Given the description of an element on the screen output the (x, y) to click on. 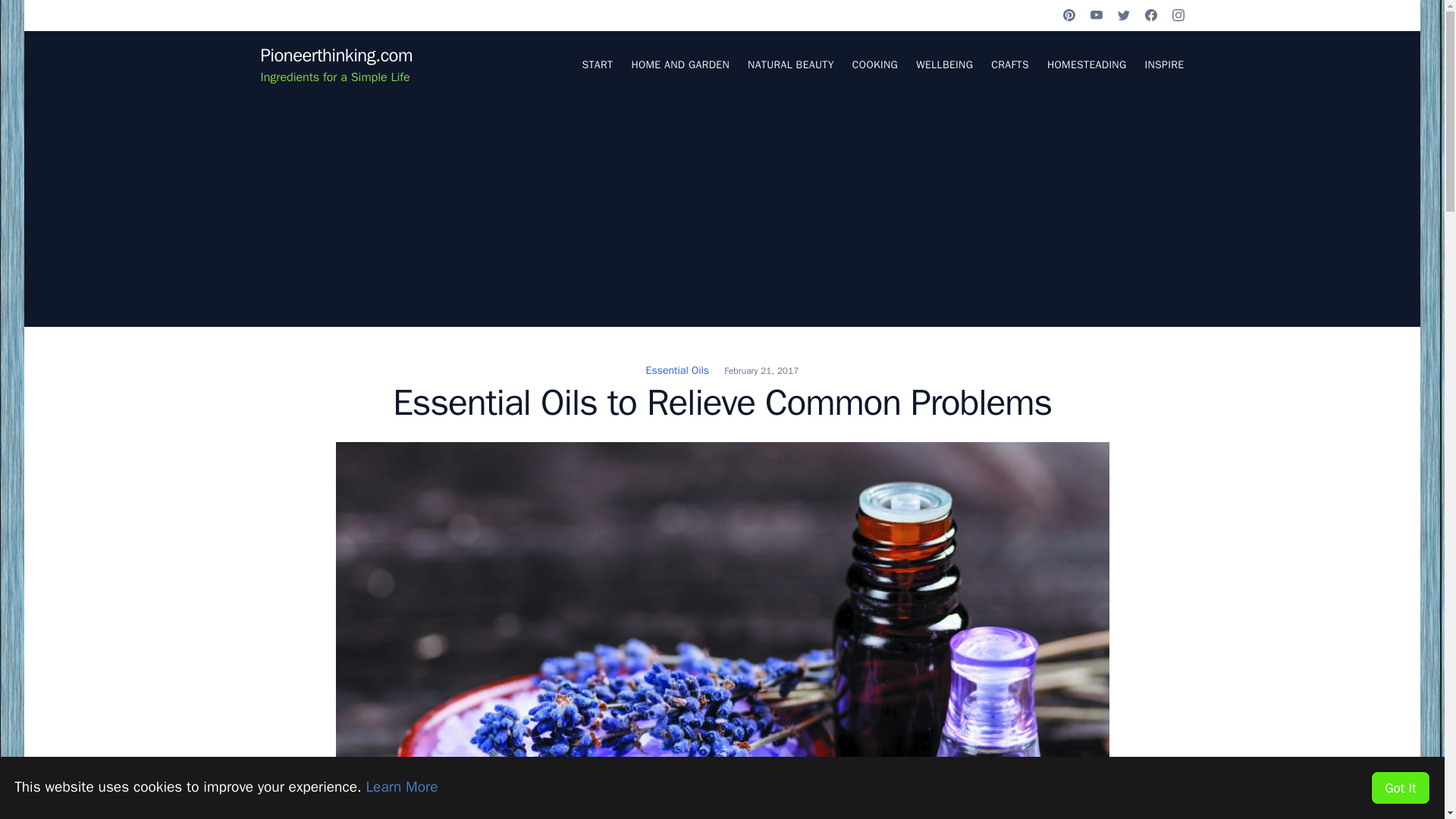
Learn More (401, 787)
NATURAL BEAUTY (791, 64)
Got It (1400, 787)
COOKING (874, 64)
Learn More (401, 787)
START (596, 64)
Pioneerthinking.com (336, 55)
HOME AND GARDEN (679, 64)
